Given the description of an element on the screen output the (x, y) to click on. 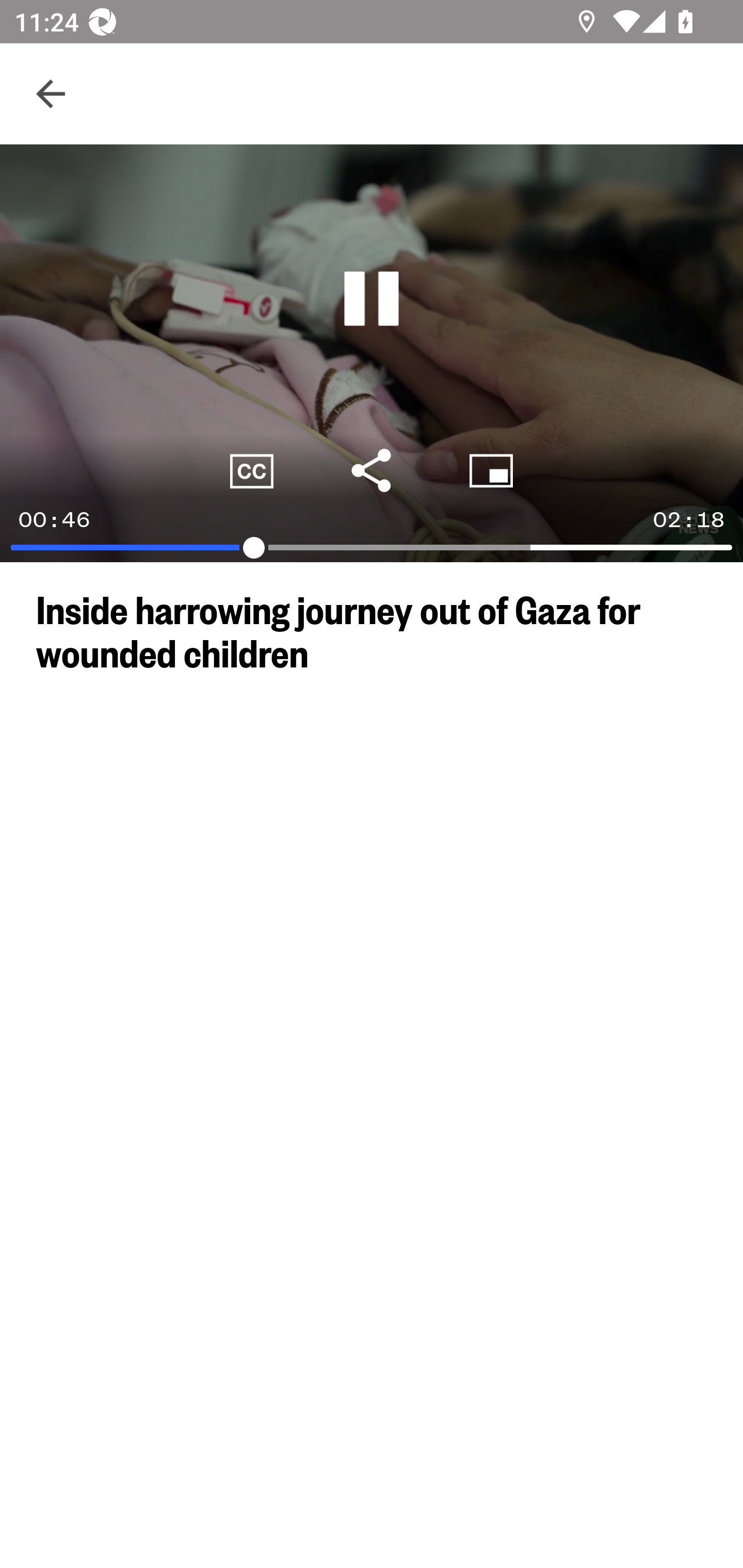
Navigate up (50, 93)
Pause (371, 298)
Closed Captions, ON (251, 470)
Share Media (371, 470)
Picture in Picture Media (490, 470)
